Given the description of an element on the screen output the (x, y) to click on. 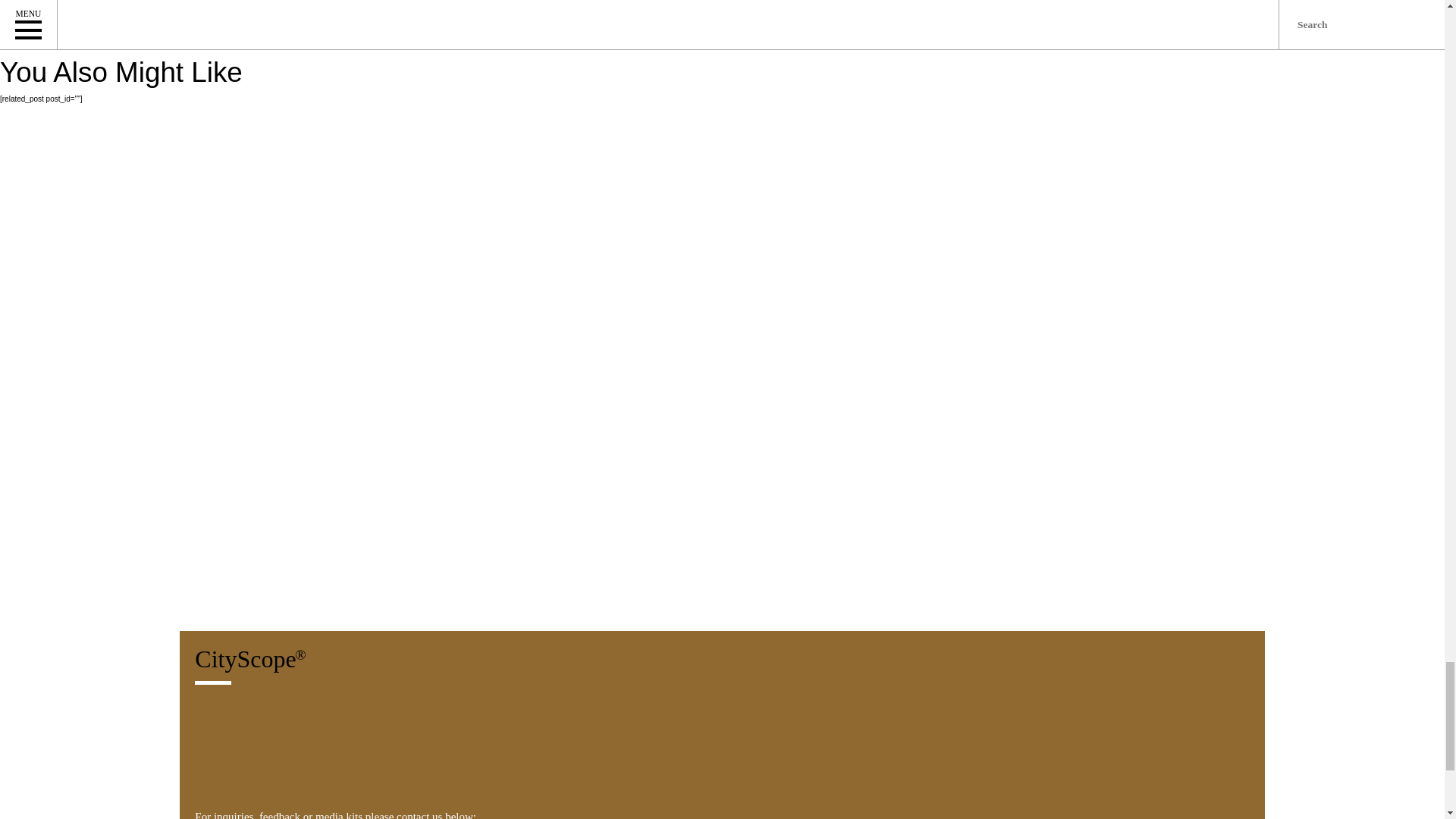
Back to Features (1252, 14)
